Given the description of an element on the screen output the (x, y) to click on. 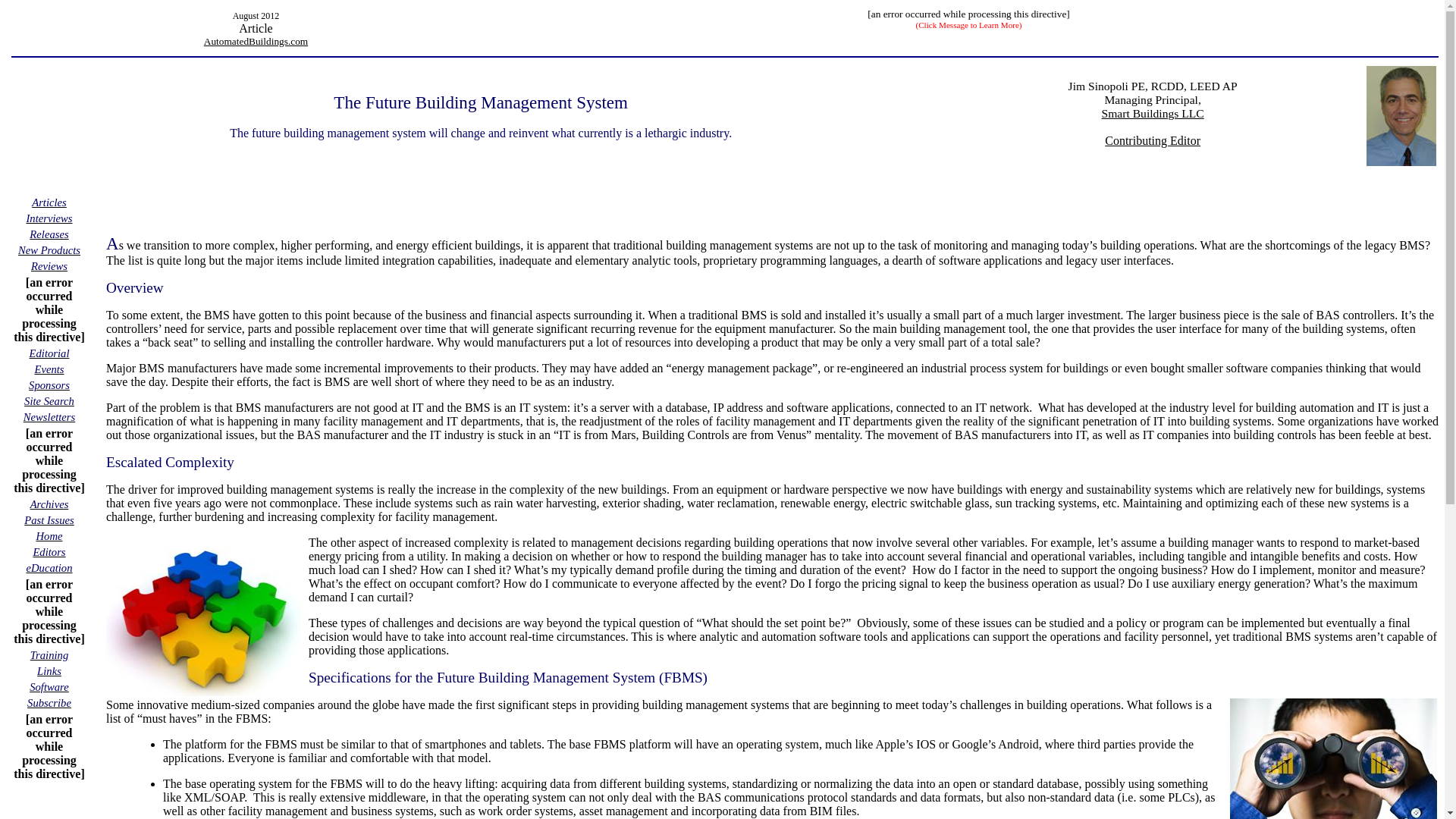
Reviews (48, 265)
Home (48, 535)
Releases (48, 233)
Newsletters (49, 416)
AutomatedBuildings.com (255, 41)
Archives (49, 503)
Site Search (49, 400)
Sponsors (49, 384)
Software (48, 686)
eDucation (48, 567)
